Given the description of an element on the screen output the (x, y) to click on. 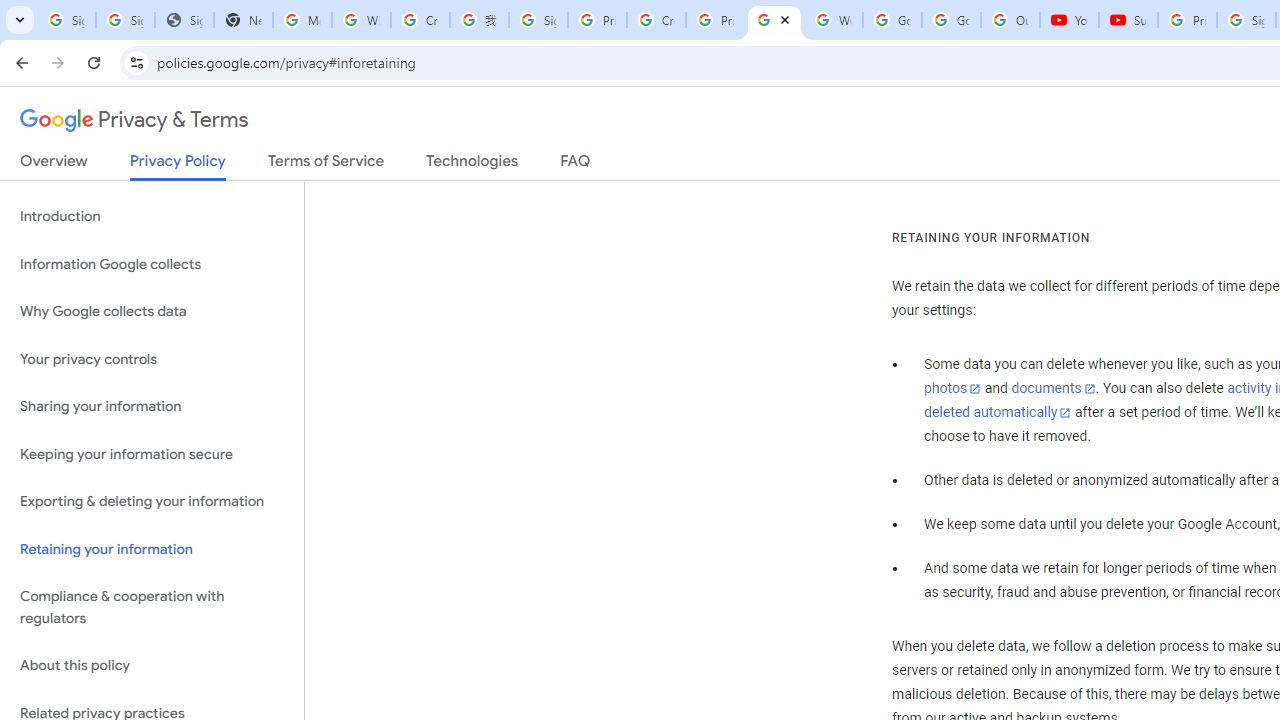
About this policy (152, 666)
Exporting & deleting your information (152, 502)
Keeping your information secure (152, 453)
Retaining your information (152, 548)
Sign in - Google Accounts (538, 20)
Sign in - Google Accounts (66, 20)
photos (952, 389)
Introduction (152, 216)
New Tab (242, 20)
Sharing your information (152, 407)
